Given the description of an element on the screen output the (x, y) to click on. 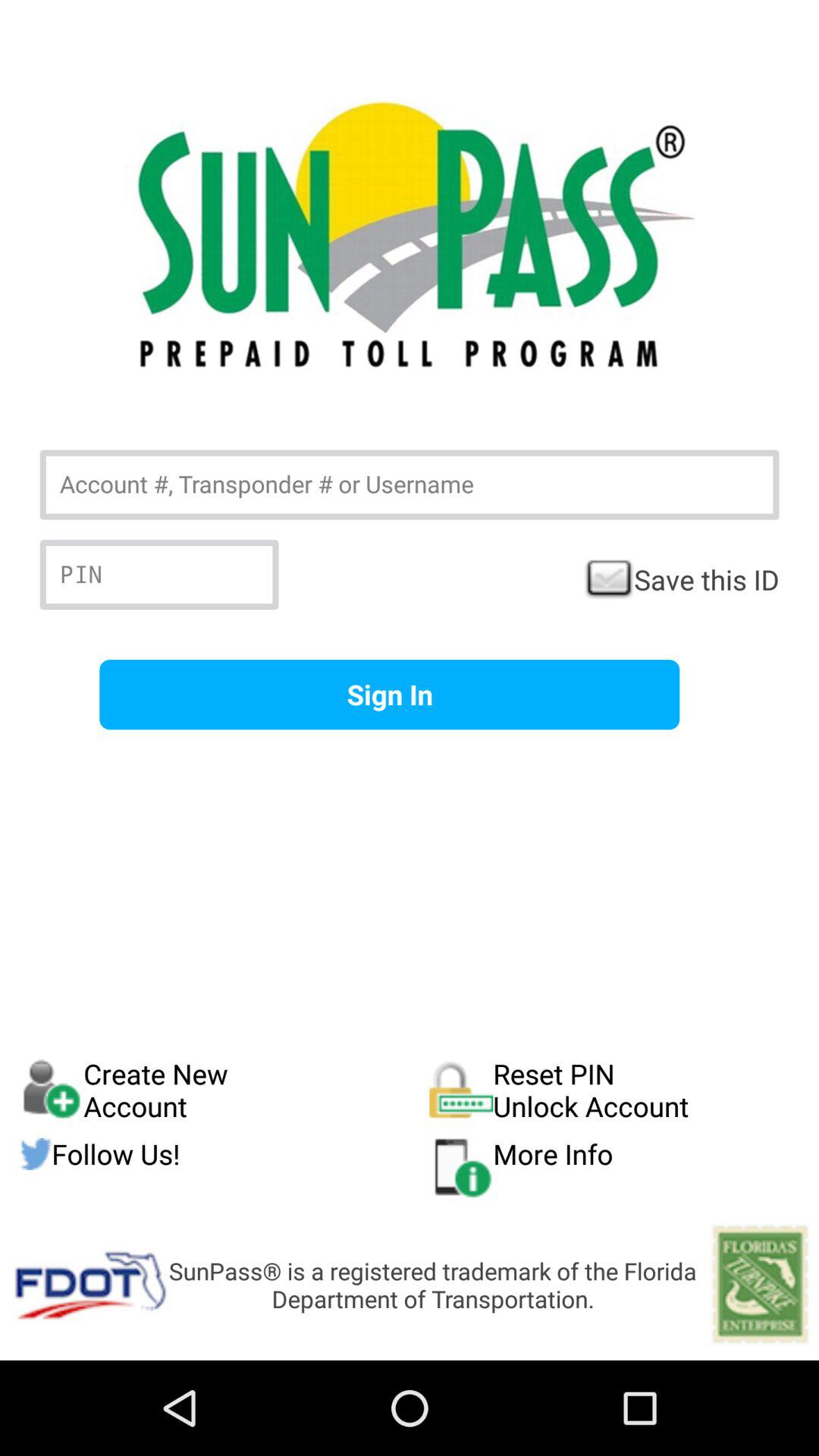
flip to more info item (614, 1166)
